Given the description of an element on the screen output the (x, y) to click on. 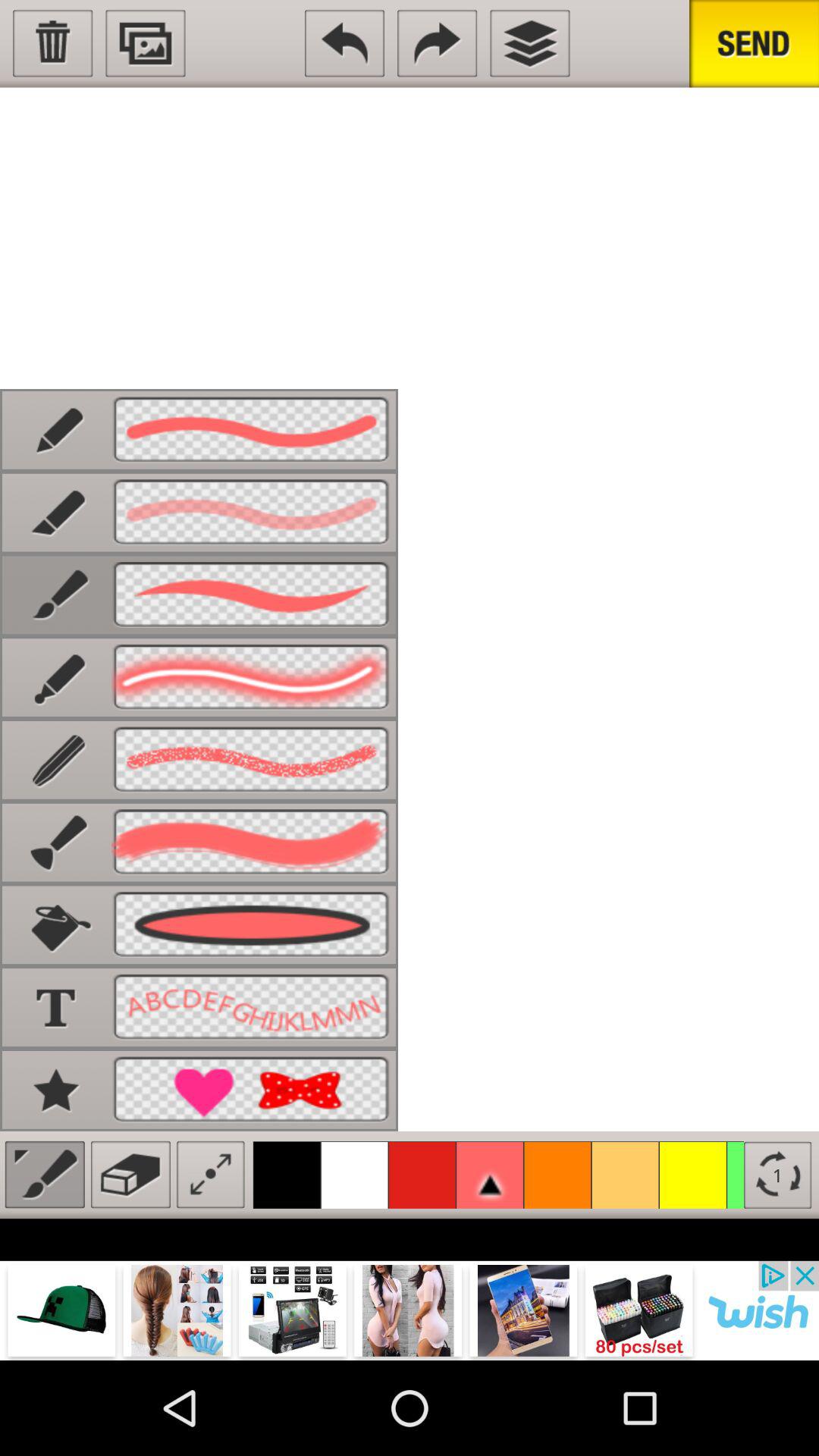
picture selection (145, 43)
